Given the description of an element on the screen output the (x, y) to click on. 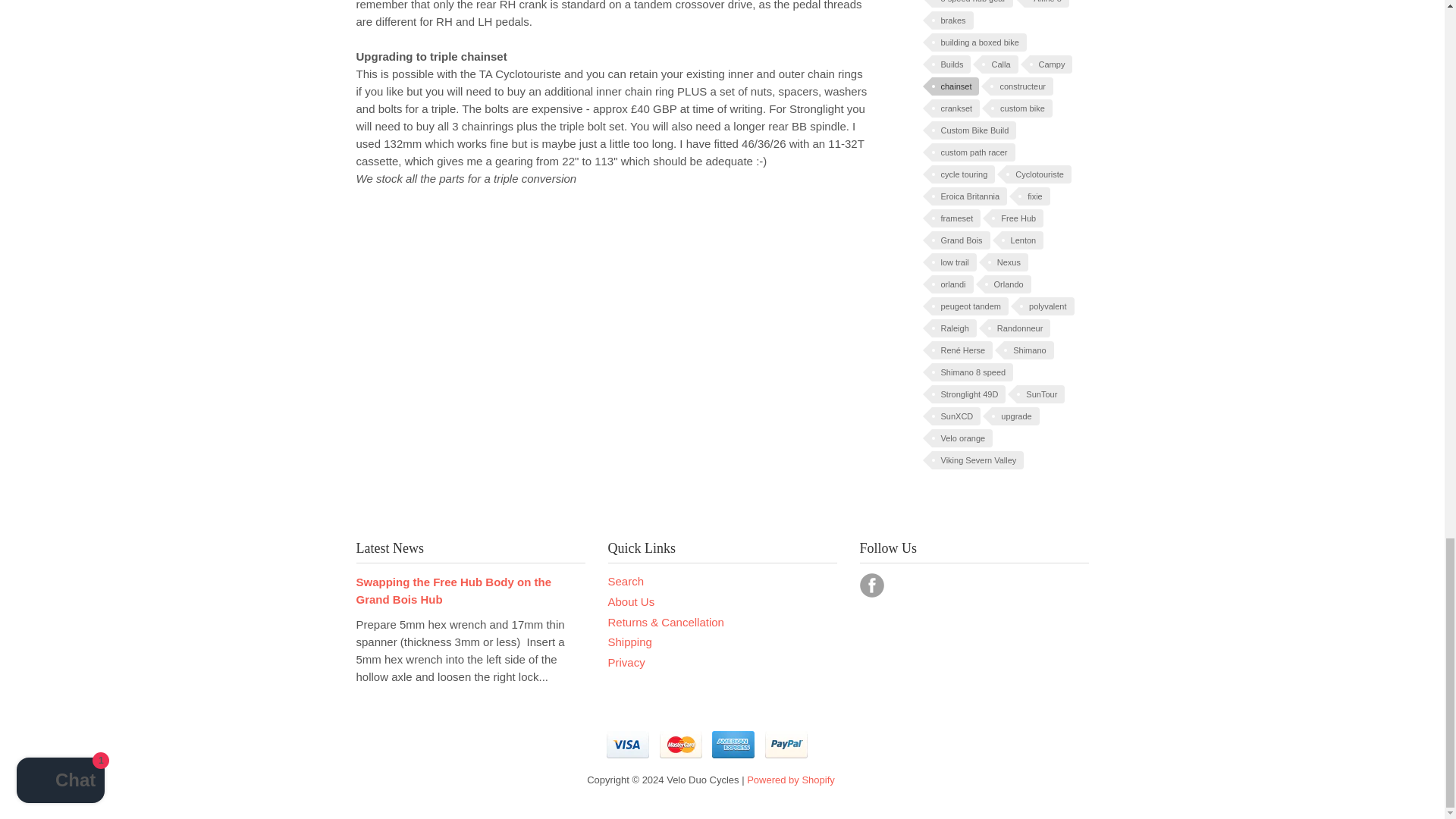
Show articles tagged Eroica Britannia (969, 196)
Show articles tagged 8 speed hub gear (972, 3)
Show articles tagged custom bike (1021, 108)
Show articles tagged Alfine 8 (1046, 3)
Show articles tagged cycle touring (962, 174)
Show articles tagged building a boxed bike (978, 42)
Show articles tagged Custom Bike Build (973, 130)
Show articles tagged Campy (1051, 64)
Show articles tagged constructeur (1021, 85)
Show articles tagged brakes (951, 20)
Show articles tagged Calla (999, 64)
Show articles tagged Builds (951, 64)
Show articles tagged crankset (955, 108)
Show articles tagged custom path racer (972, 152)
Widen search to articles that aren't tagged chainset (954, 85)
